Given the description of an element on the screen output the (x, y) to click on. 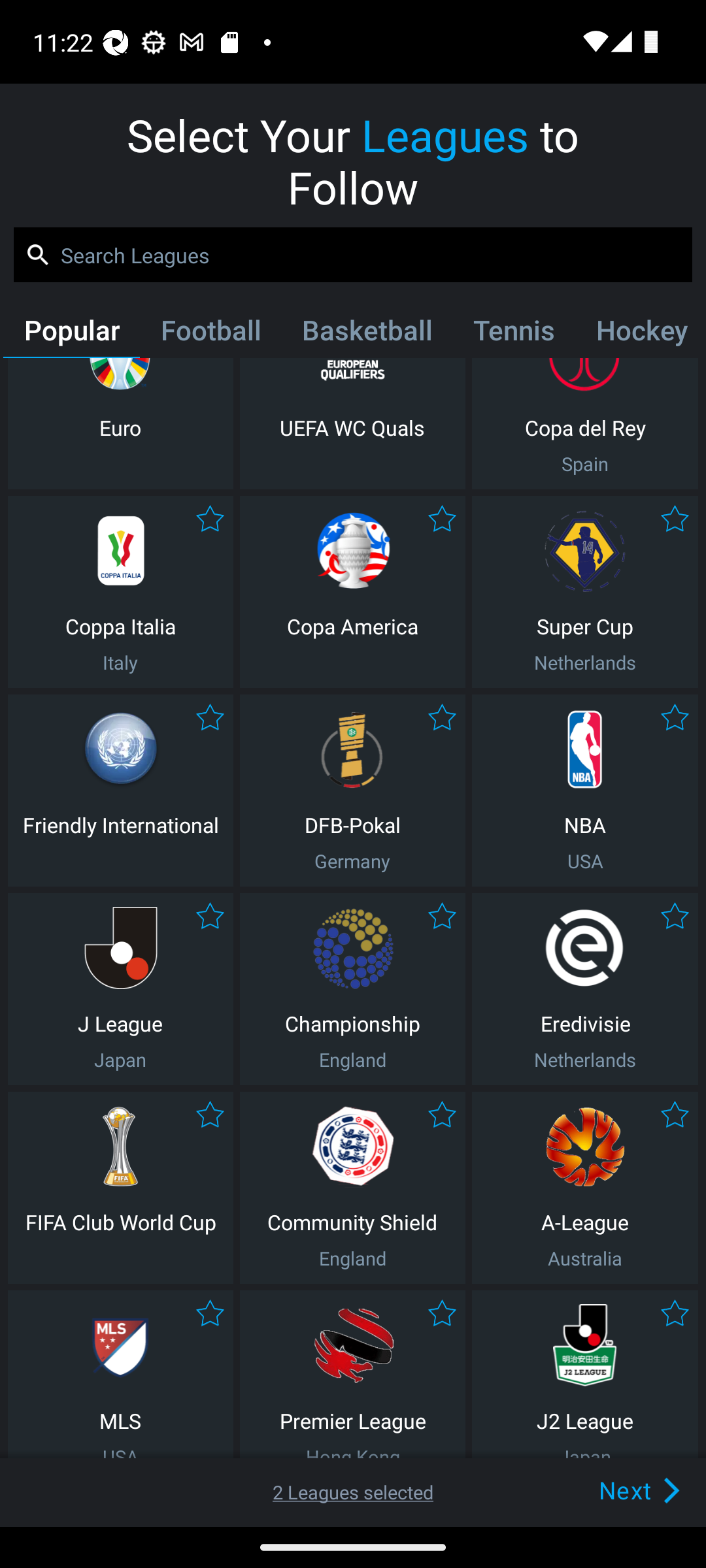
Search Leagues (352, 254)
Popular (71, 333)
Football (209, 333)
Basketball (366, 333)
Tennis (513, 333)
Hockey (638, 333)
Euro (120, 423)
UEFA WC Quals (352, 423)
Copa del Rey Spain (585, 423)
Coppa Italia Italy (120, 591)
Copa America (352, 591)
Super Cup Netherlands (585, 591)
Friendly International (120, 789)
DFB-Pokal Germany (352, 789)
NBA USA (585, 789)
J League Japan (120, 989)
Championship England (352, 989)
Eredivisie Netherlands (585, 989)
FIFA Club World Cup (120, 1187)
Community Shield England (352, 1187)
A-League Australia (585, 1187)
MLS USA (120, 1374)
Premier League Hong Kong (352, 1374)
J2 League Japan (585, 1374)
Next (609, 1489)
2 Leagues selected (352, 1491)
